Given the description of an element on the screen output the (x, y) to click on. 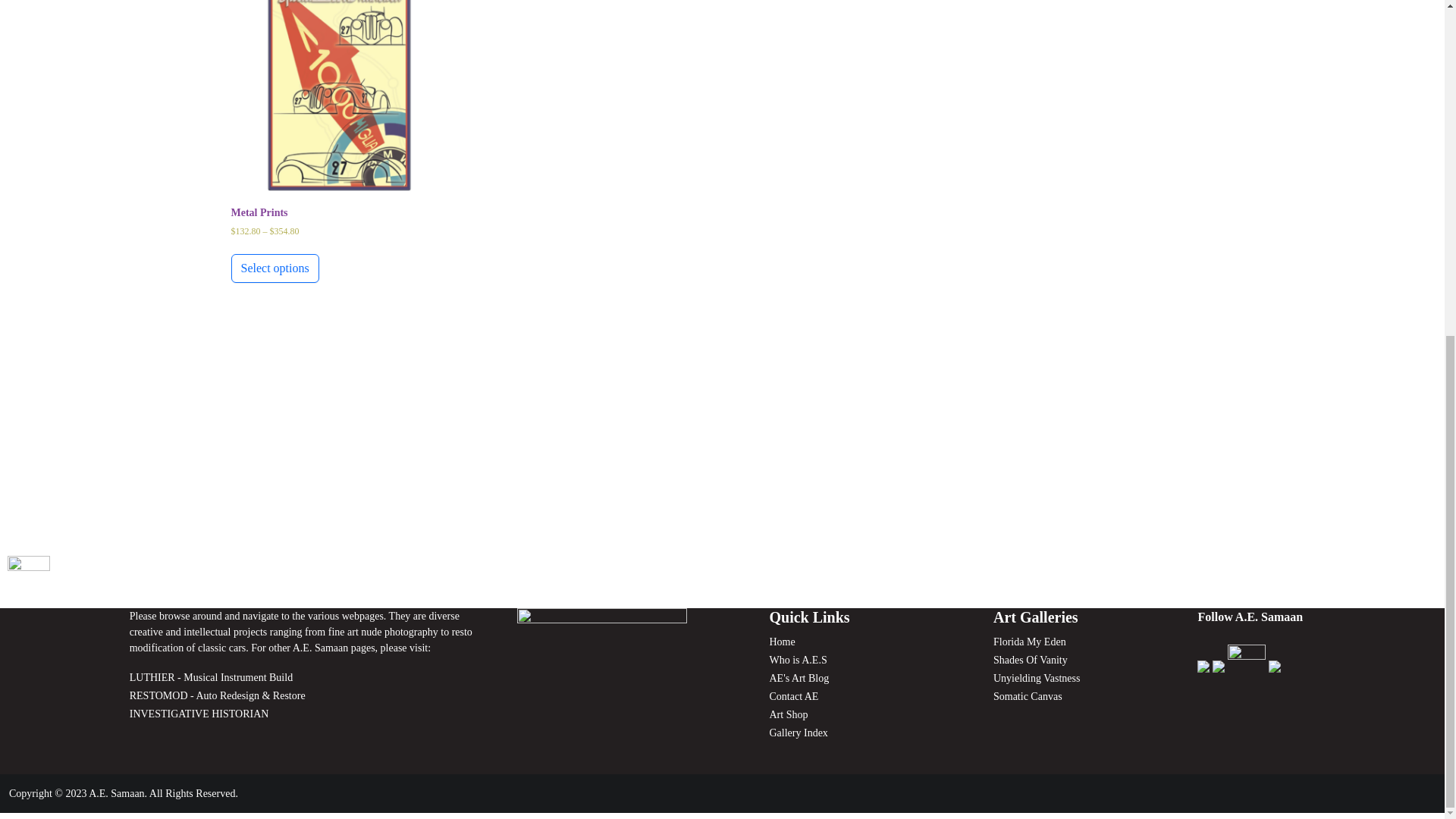
Gallery Index (797, 732)
Select options (274, 267)
Art Shop (788, 714)
Contact AE (793, 696)
Unyielding Vastness (1036, 677)
INVESTIGATIVE HISTORIAN (199, 713)
Florida My Eden (1028, 641)
Shades Of Vanity (1029, 659)
AE's Art Blog (798, 677)
Home (781, 641)
